Given the description of an element on the screen output the (x, y) to click on. 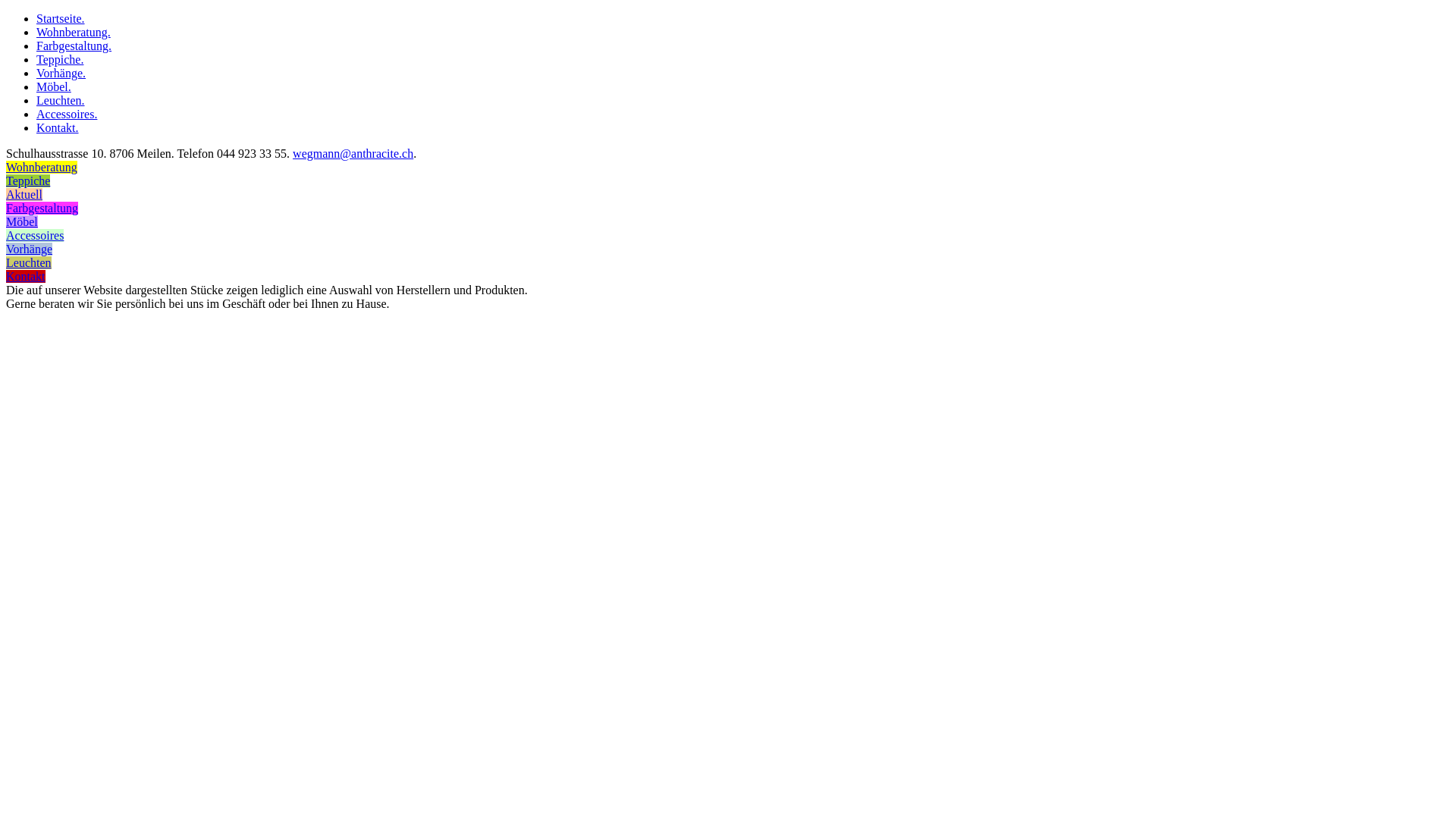
Kontakt Element type: text (25, 275)
Leuchten. Element type: text (60, 100)
Teppiche Element type: text (28, 180)
Kontakt. Element type: text (57, 127)
Accessoires Element type: text (34, 235)
wegmann@anthracite.ch Element type: text (352, 153)
Farbgestaltung. Element type: text (73, 45)
Aktuell Element type: text (24, 194)
Teppiche. Element type: text (59, 59)
Accessoires. Element type: text (66, 113)
Wohnberatung. Element type: text (73, 31)
Startseite. Element type: text (60, 18)
Farbgestaltung Element type: text (42, 207)
Wohnberatung Element type: text (41, 166)
Leuchten Element type: text (28, 262)
